Given the description of an element on the screen output the (x, y) to click on. 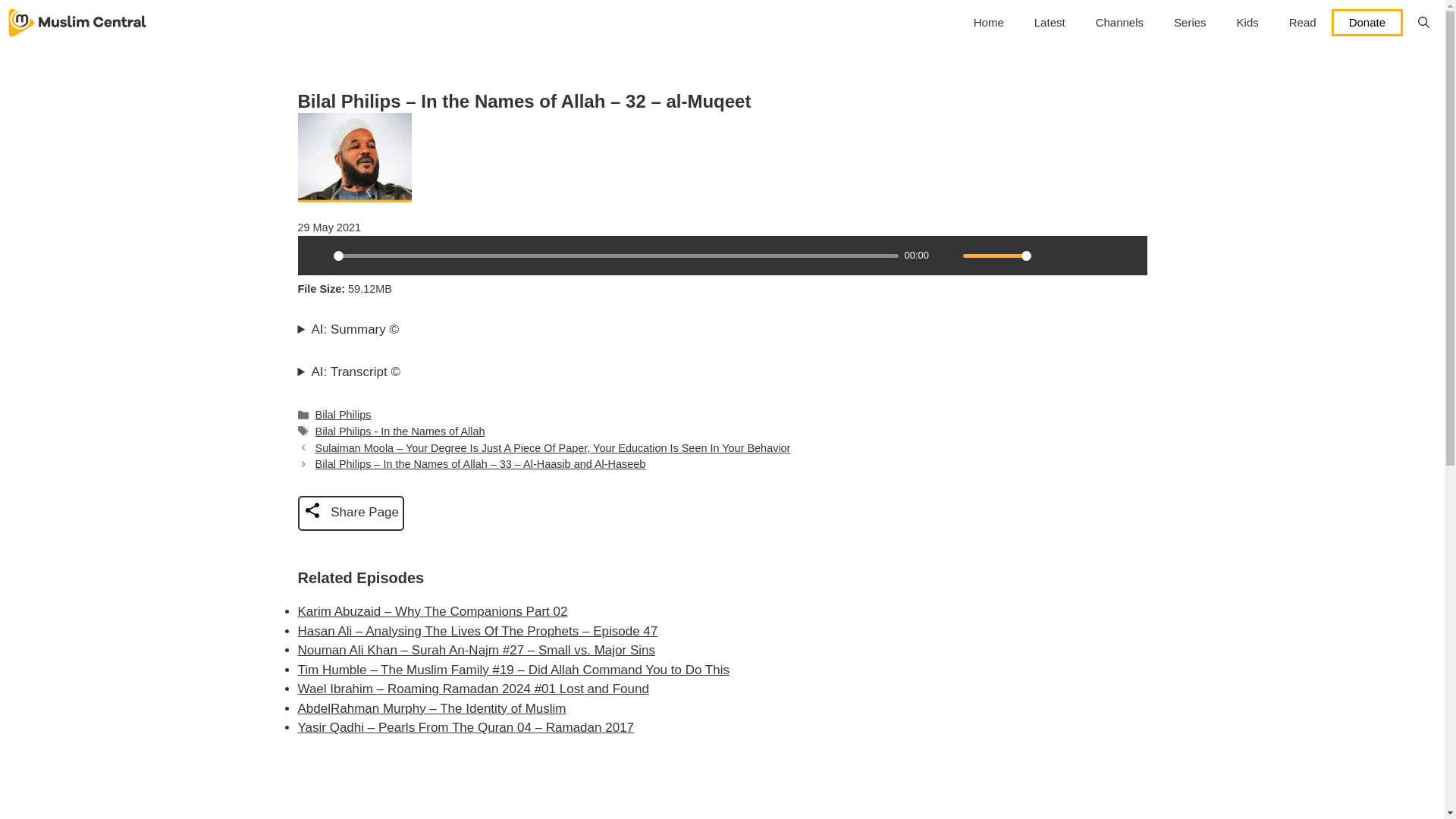
Home (988, 22)
Rewind 10s (1101, 255)
Latest (1049, 22)
Channels (1119, 22)
Read (1303, 22)
Bilal Philips - In the Names of Allah (399, 431)
Donate (1367, 22)
Download (1074, 255)
Kids (1247, 22)
Play (316, 255)
Bilal Philips (343, 414)
Muslim Central (77, 22)
0 (615, 255)
Settings (1048, 255)
Forward 10s (1126, 255)
